Given the description of an element on the screen output the (x, y) to click on. 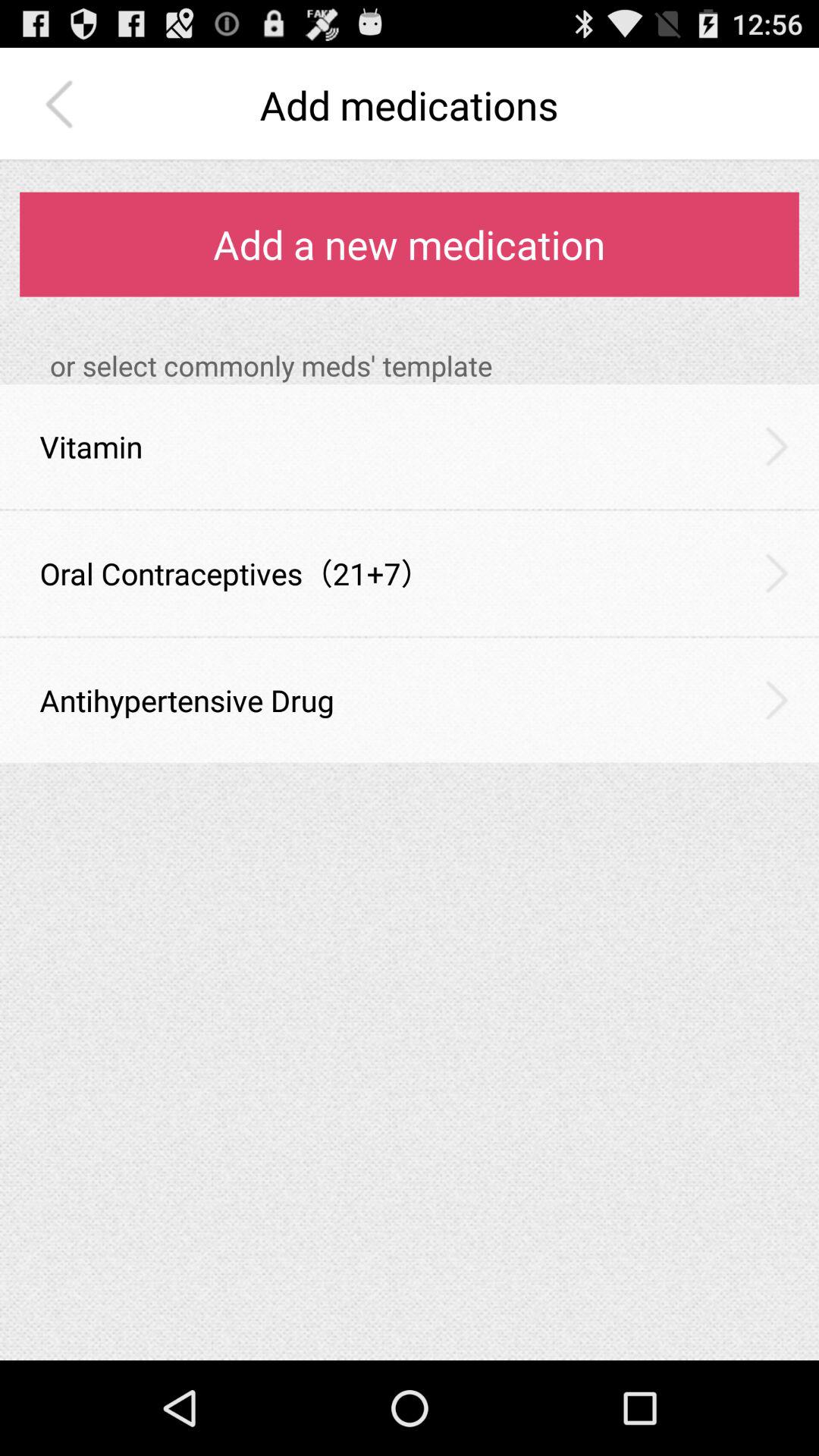
turn off the item to the left of add medications (63, 104)
